Given the description of an element on the screen output the (x, y) to click on. 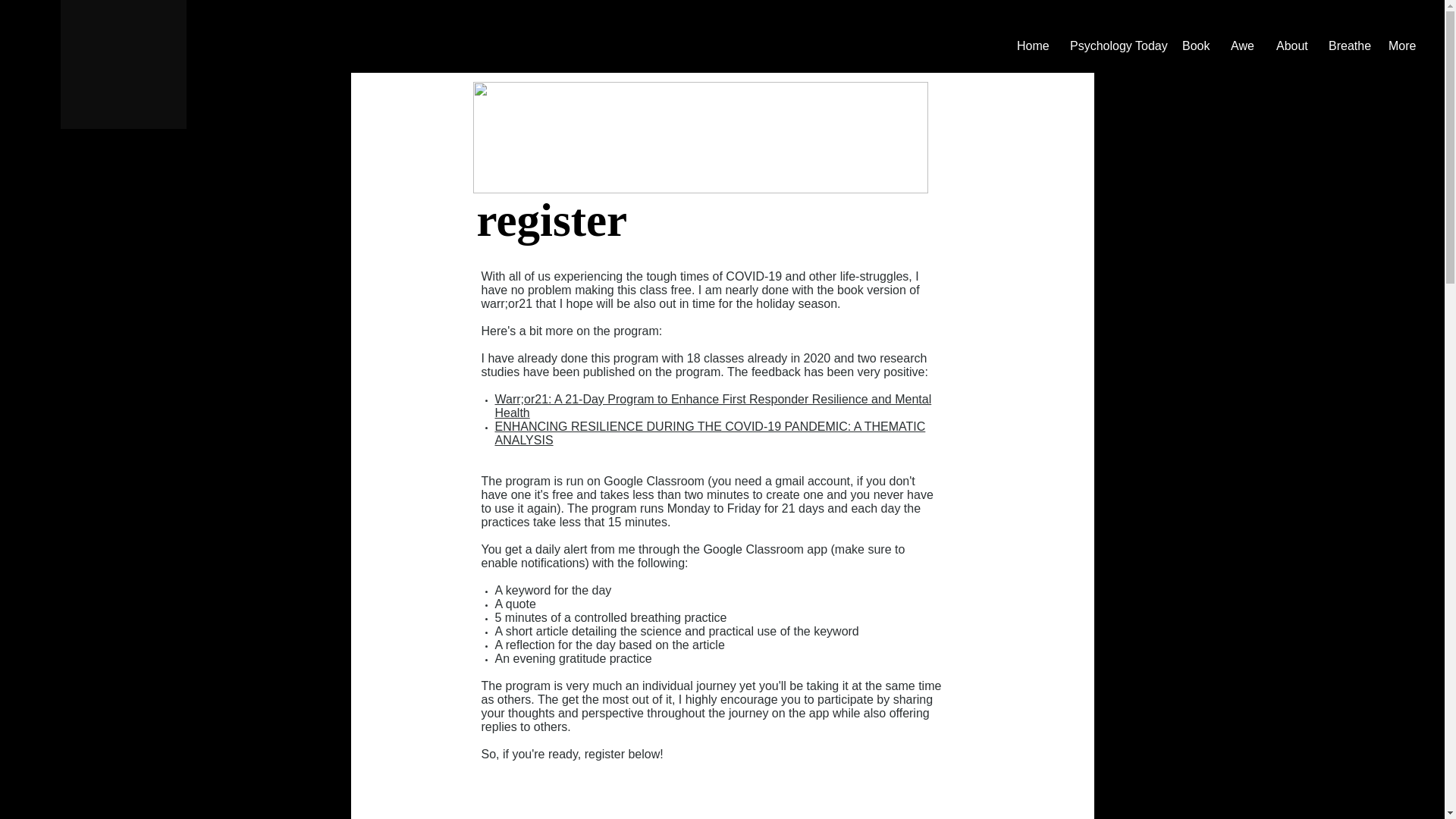
w21-web.gif (700, 137)
Home (1032, 46)
Awe (1242, 46)
Book (1195, 46)
Psychology Today (1114, 46)
About (1291, 46)
Breathe (1347, 46)
